Given the description of an element on the screen output the (x, y) to click on. 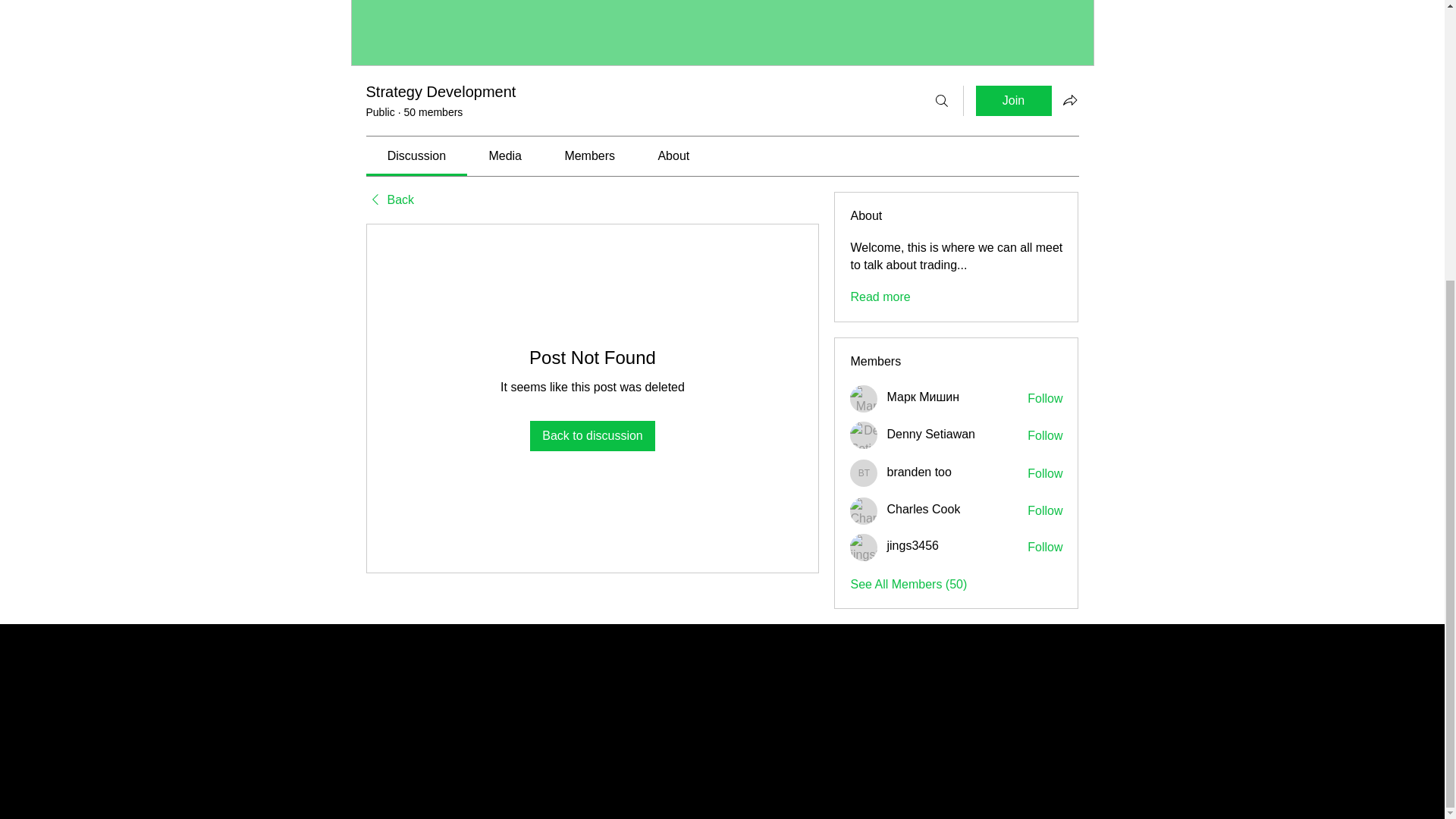
Denny Setiawan (930, 433)
Follow (1044, 547)
Follow (1044, 474)
Back (389, 199)
branden too (863, 472)
Back to discussion (592, 435)
Charles Cook (922, 509)
branden too (918, 472)
Read more (880, 297)
jings3456 (863, 547)
